Given the description of an element on the screen output the (x, y) to click on. 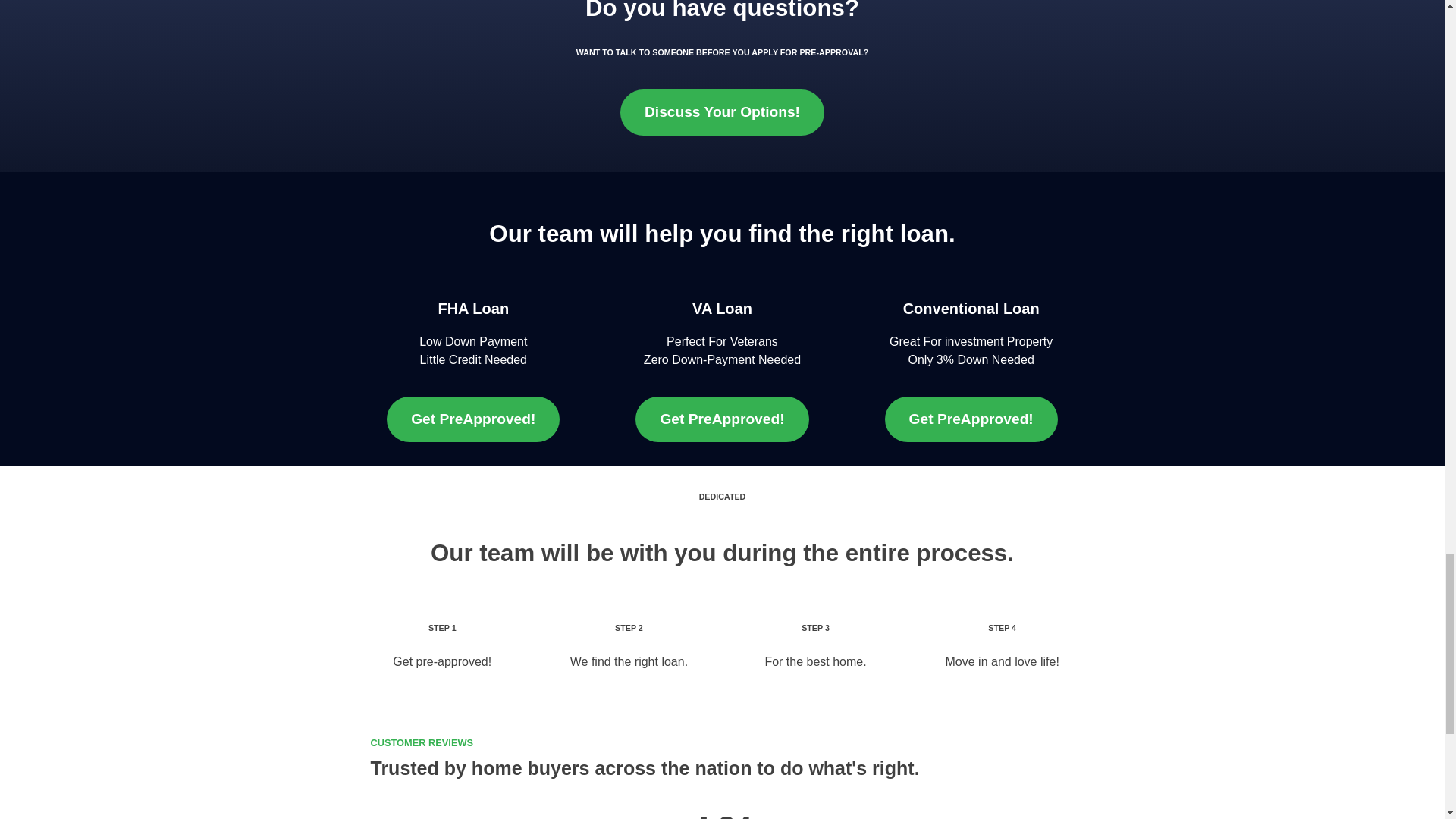
Discuss Your Options! (722, 112)
Get PreApproved! (473, 419)
Get PreApproved! (721, 419)
Get PreApproved! (971, 419)
